Given the description of an element on the screen output the (x, y) to click on. 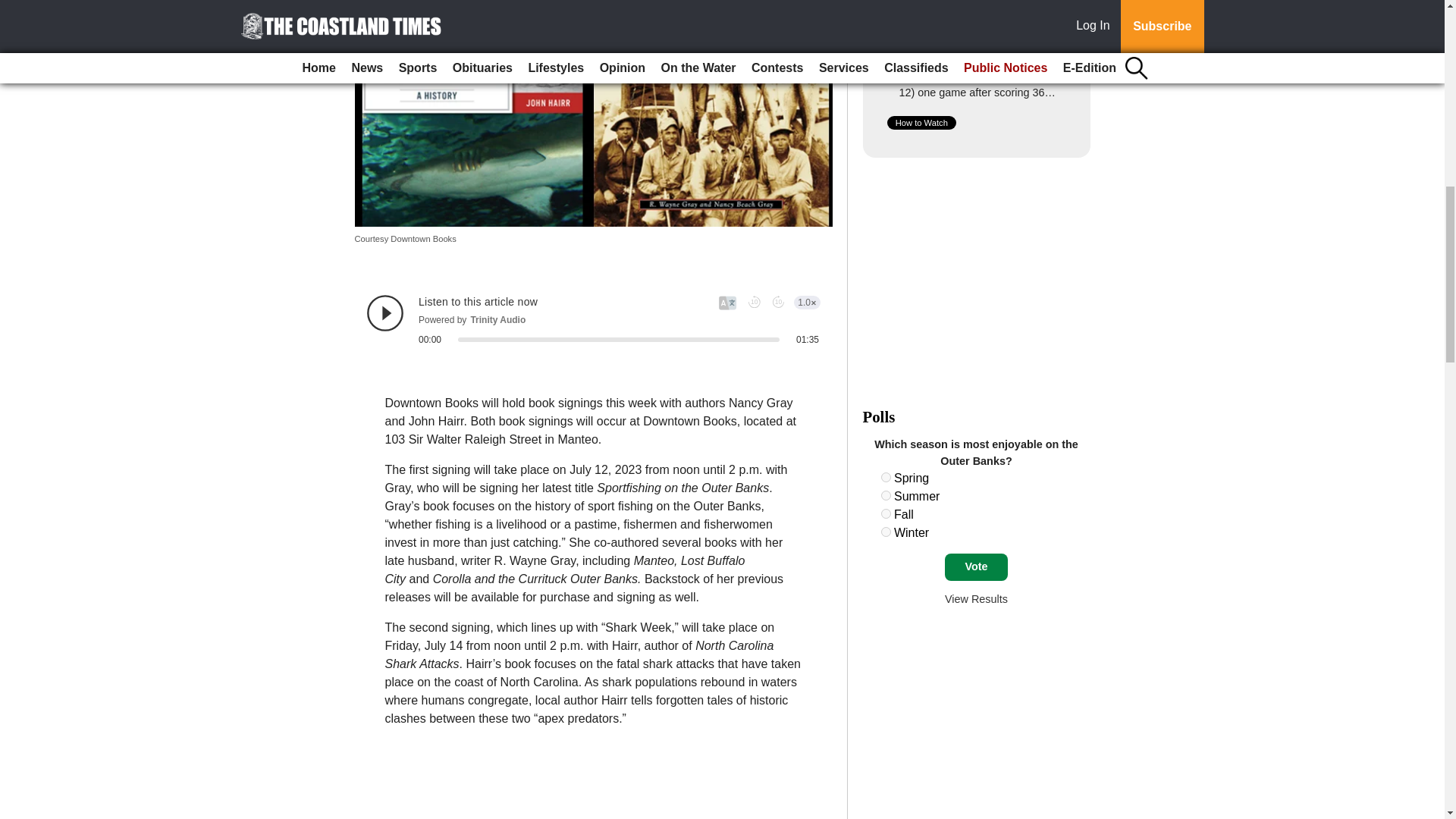
View Results Of This Poll (975, 598)
152 (885, 495)
154 (885, 532)
   Vote    (975, 566)
Trinity Audio Player (592, 319)
151 (885, 477)
153 (885, 513)
